Given the description of an element on the screen output the (x, y) to click on. 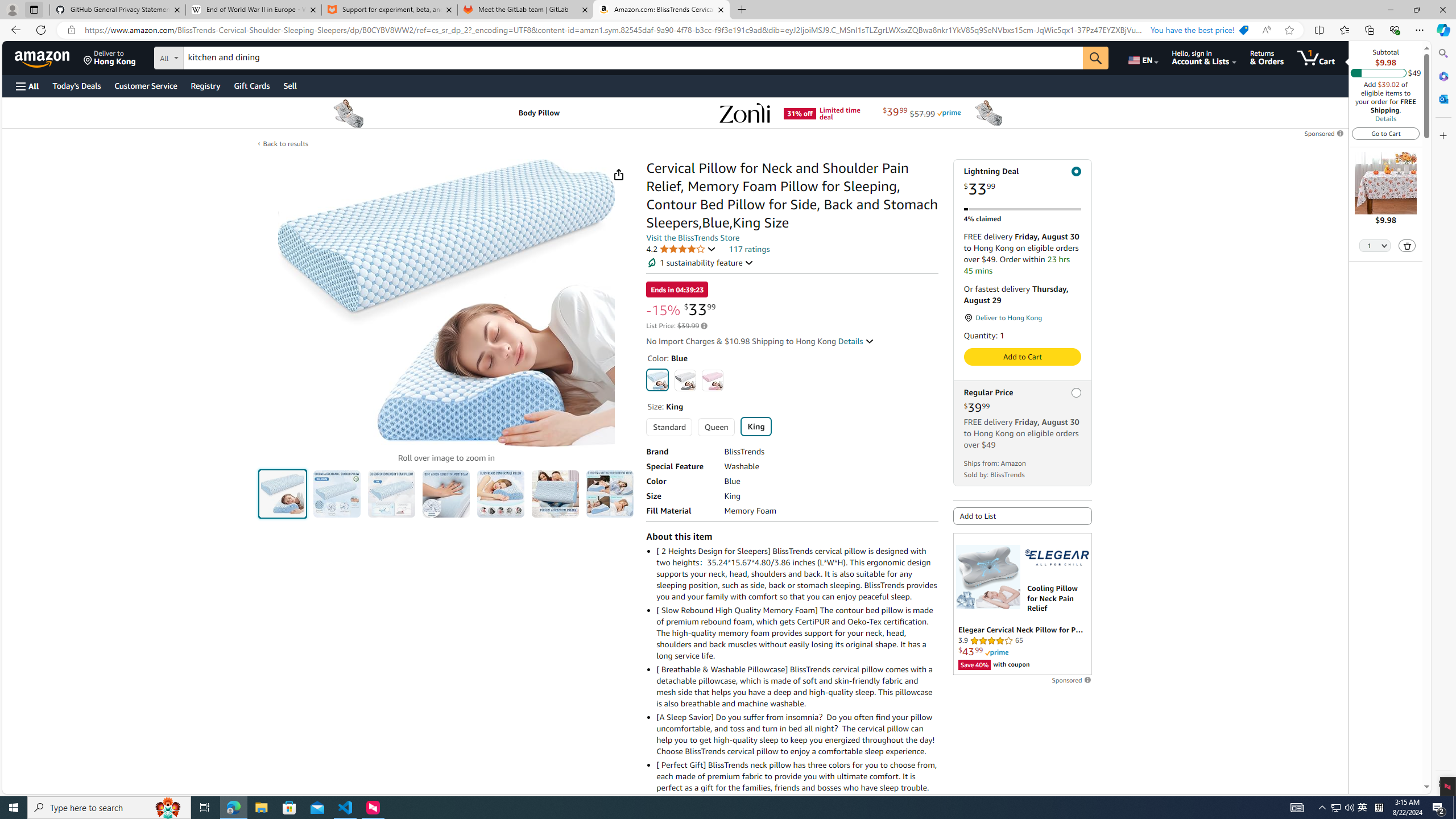
Visit the BlissTrends Store (692, 237)
Sell (290, 85)
Search Amazon (633, 57)
Details (1385, 118)
Prime (996, 652)
Back to results (285, 144)
